Given the description of an element on the screen output the (x, y) to click on. 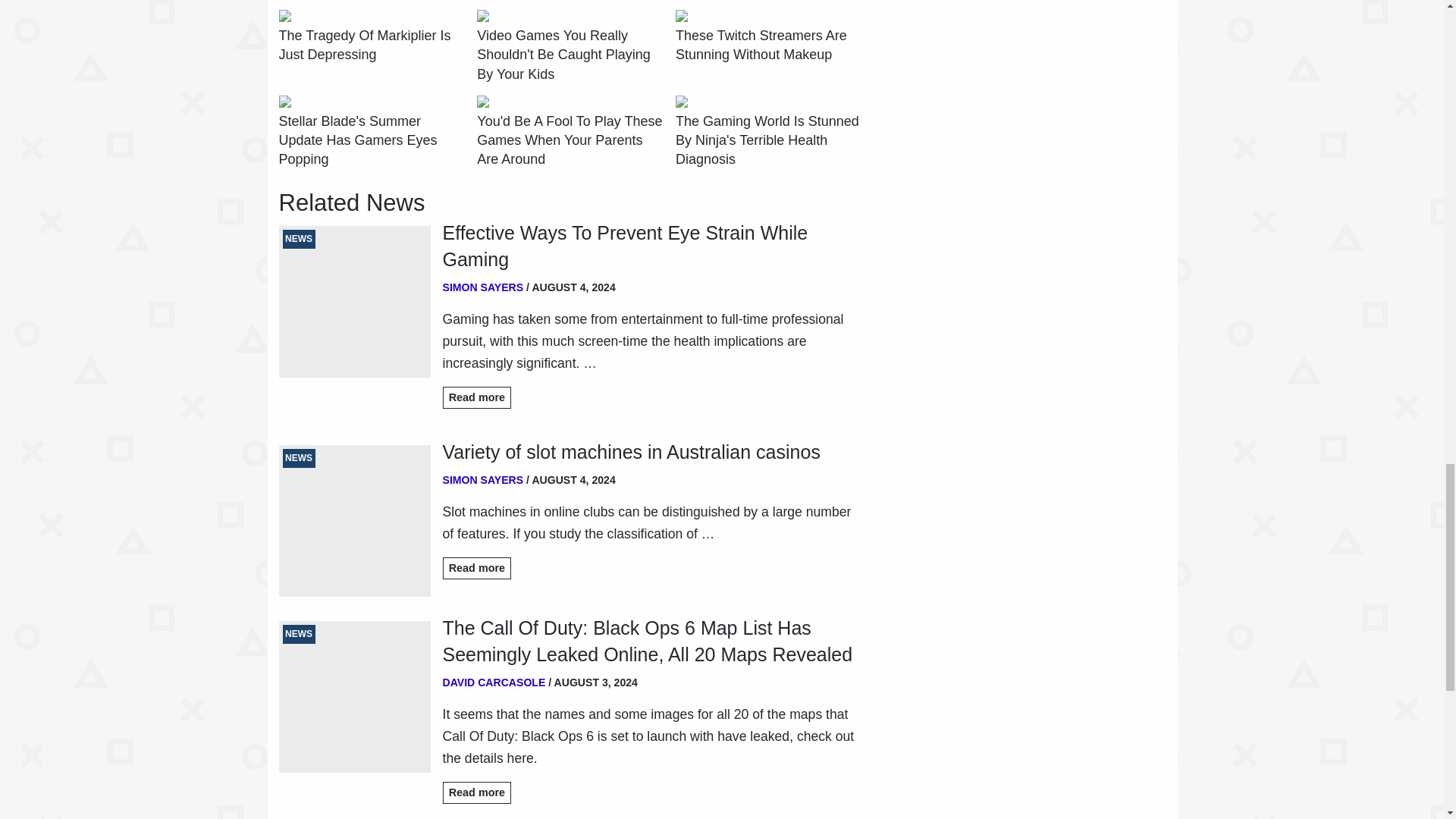
Stellar Blade's Summer Update Has Gamers Eyes Popping (372, 140)
Effective Ways To Prevent Eye Strain While Gaming (652, 246)
Read more (477, 397)
SIMON SAYERS (483, 287)
NEWS (354, 301)
These Twitch Streamers Are Stunning Without Makeup (768, 45)
The Tragedy Of Markiplier Is Just Depressing (372, 45)
